Given the description of an element on the screen output the (x, y) to click on. 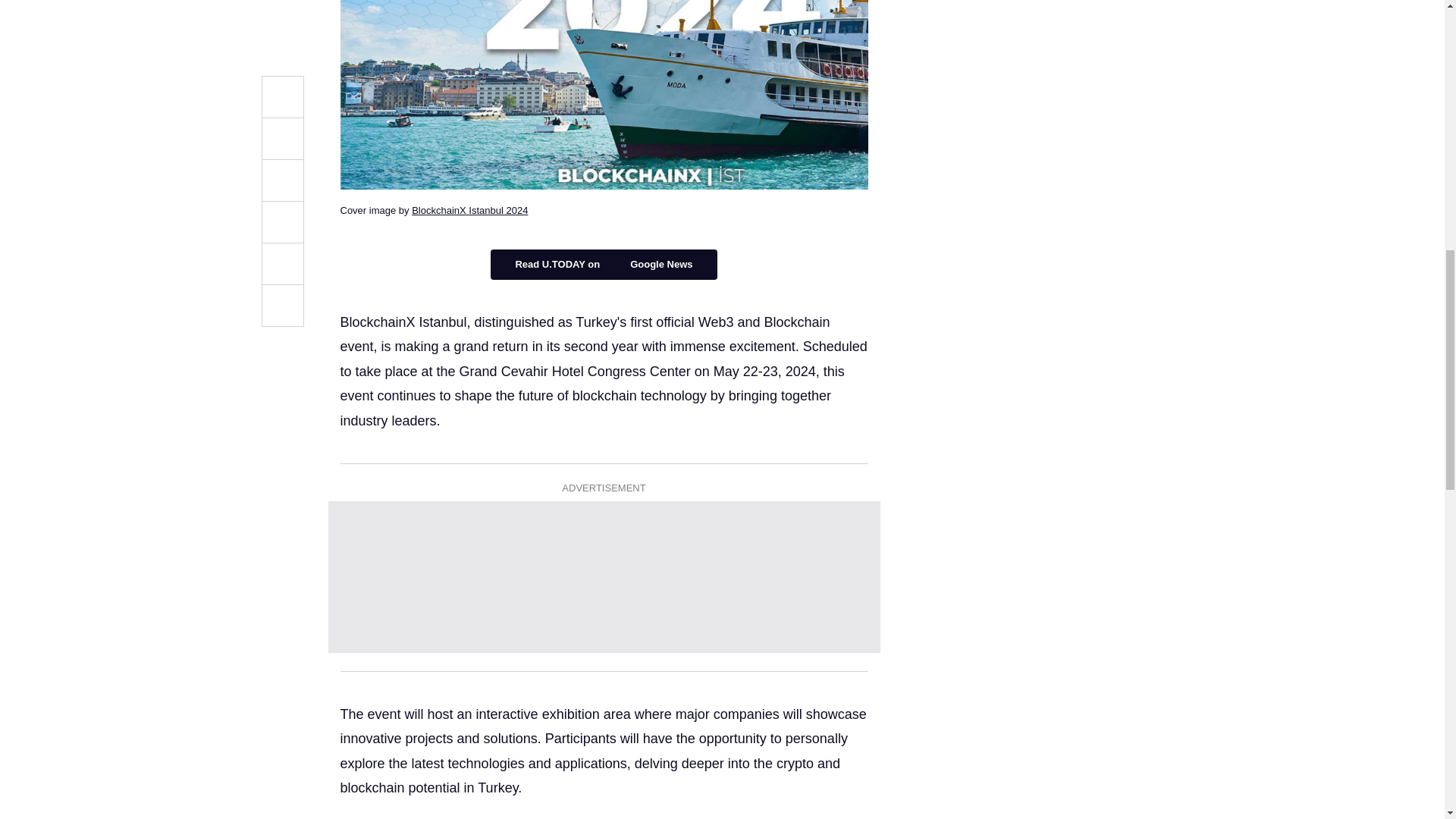
Advertisement (604, 576)
